Given the description of an element on the screen output the (x, y) to click on. 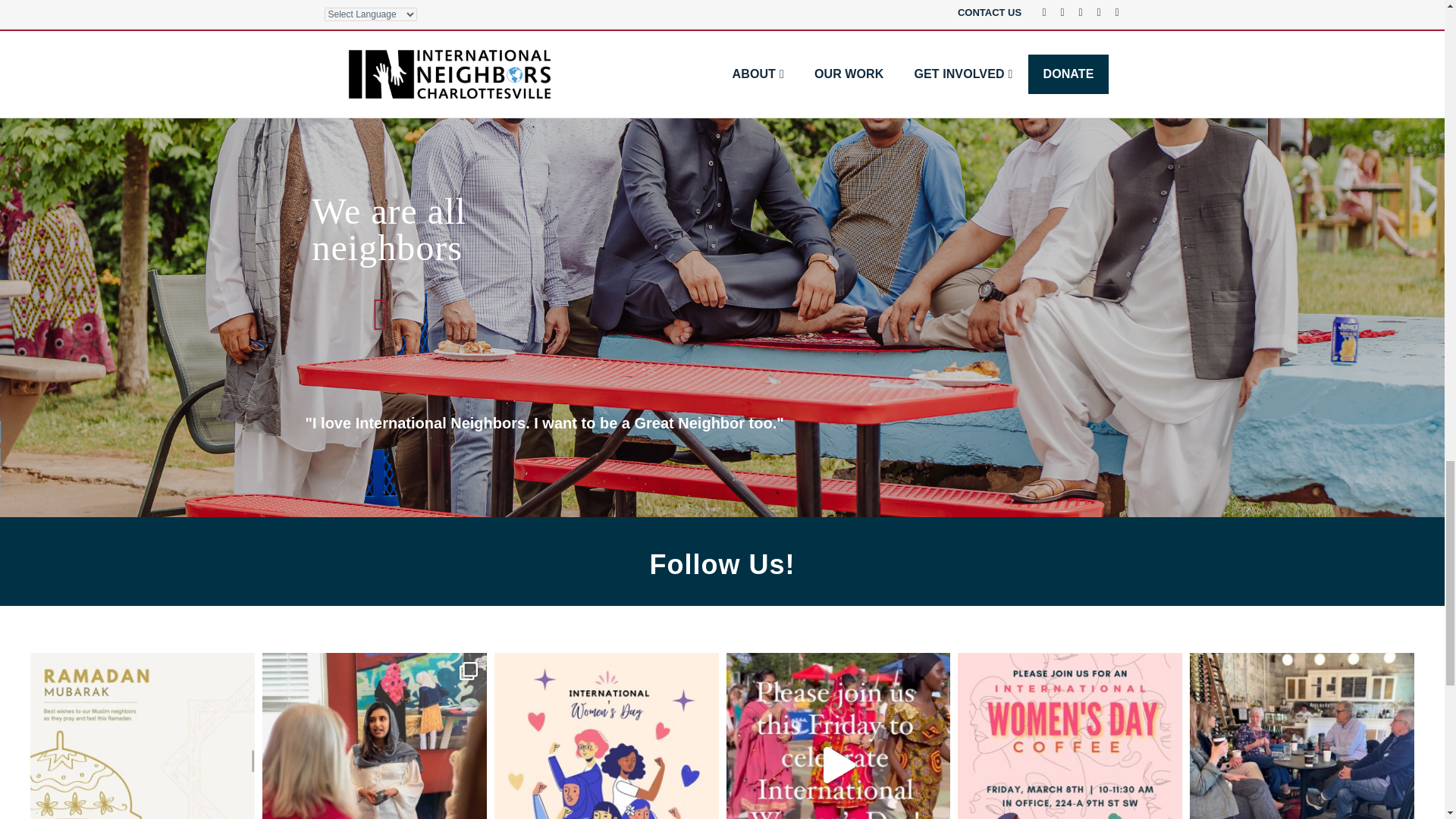
Volunteer (930, 4)
Donate (513, 4)
